Given the description of an element on the screen output the (x, y) to click on. 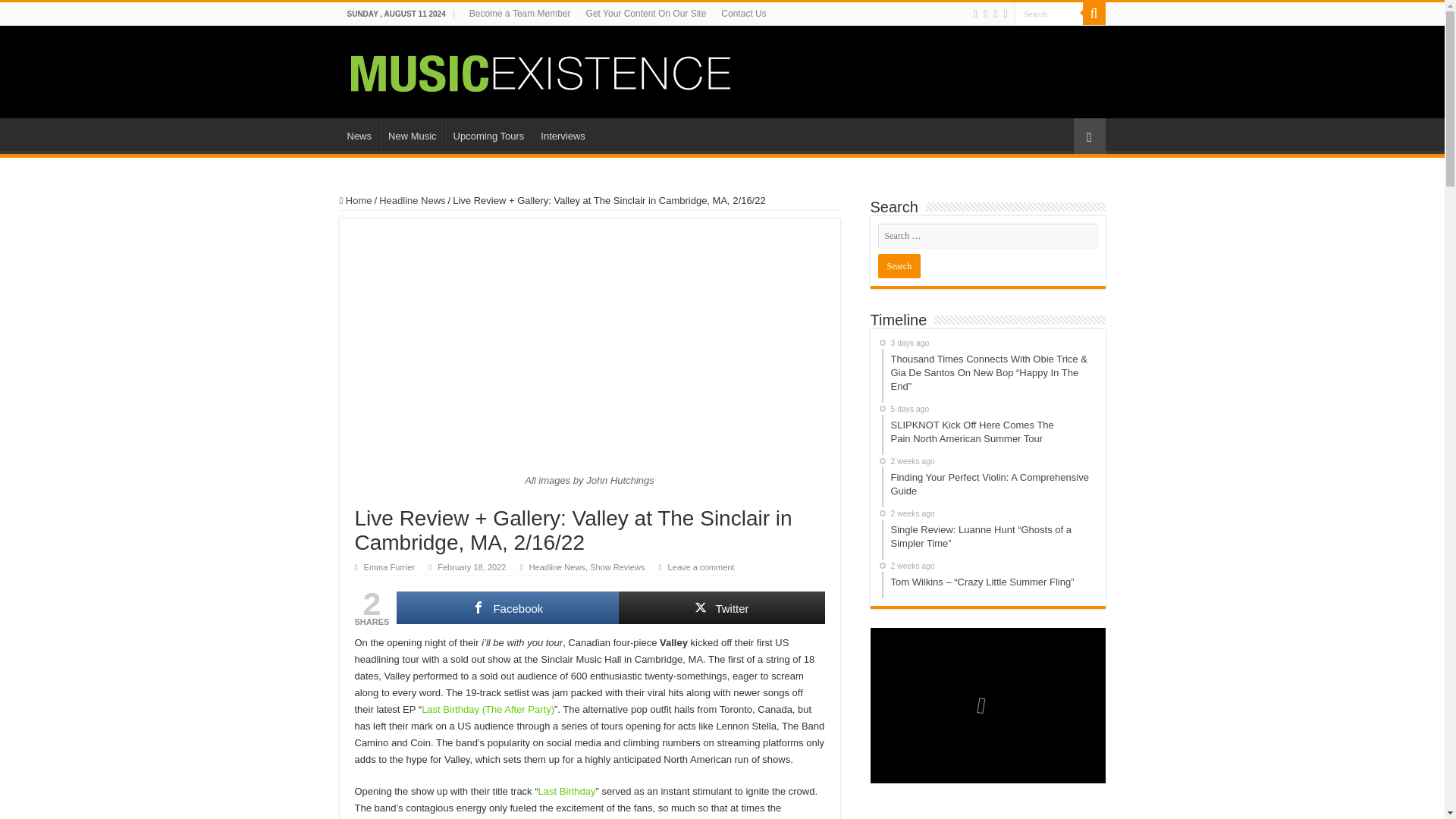
Get Your Content On Our Site (646, 13)
Contact Us (743, 13)
Leave a comment (701, 566)
Music Existence (539, 70)
Search (1048, 13)
Facebook (507, 607)
Twitter (721, 607)
News (359, 133)
New Music (412, 133)
Search (899, 265)
